Given the description of an element on the screen output the (x, y) to click on. 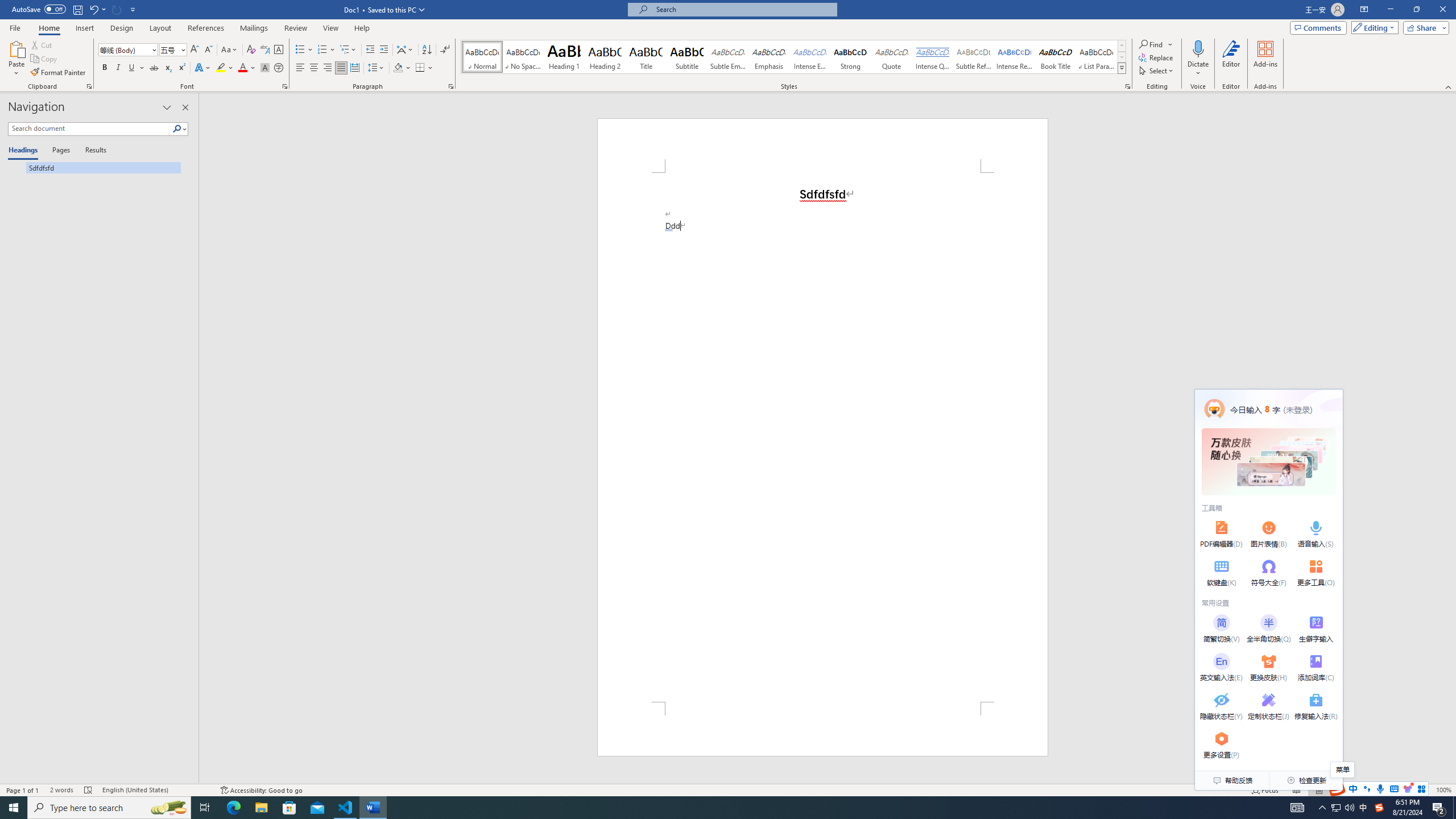
Undo AutoCorrect (96, 9)
Emphasis (768, 56)
